Given the description of an element on the screen output the (x, y) to click on. 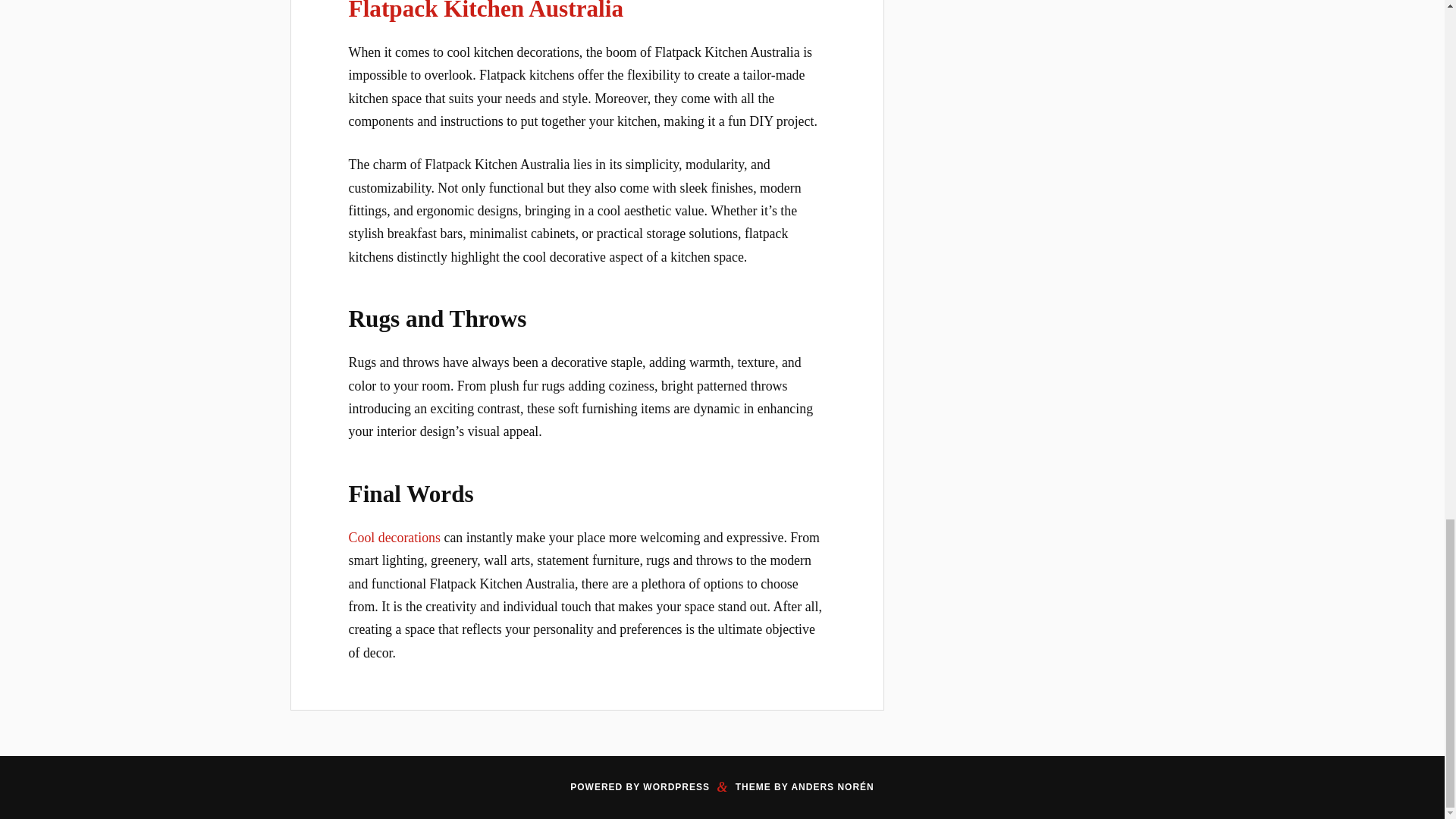
Flatpack Kitchen Australia (486, 11)
WORDPRESS (676, 787)
Cool decorations (395, 537)
